Given the description of an element on the screen output the (x, y) to click on. 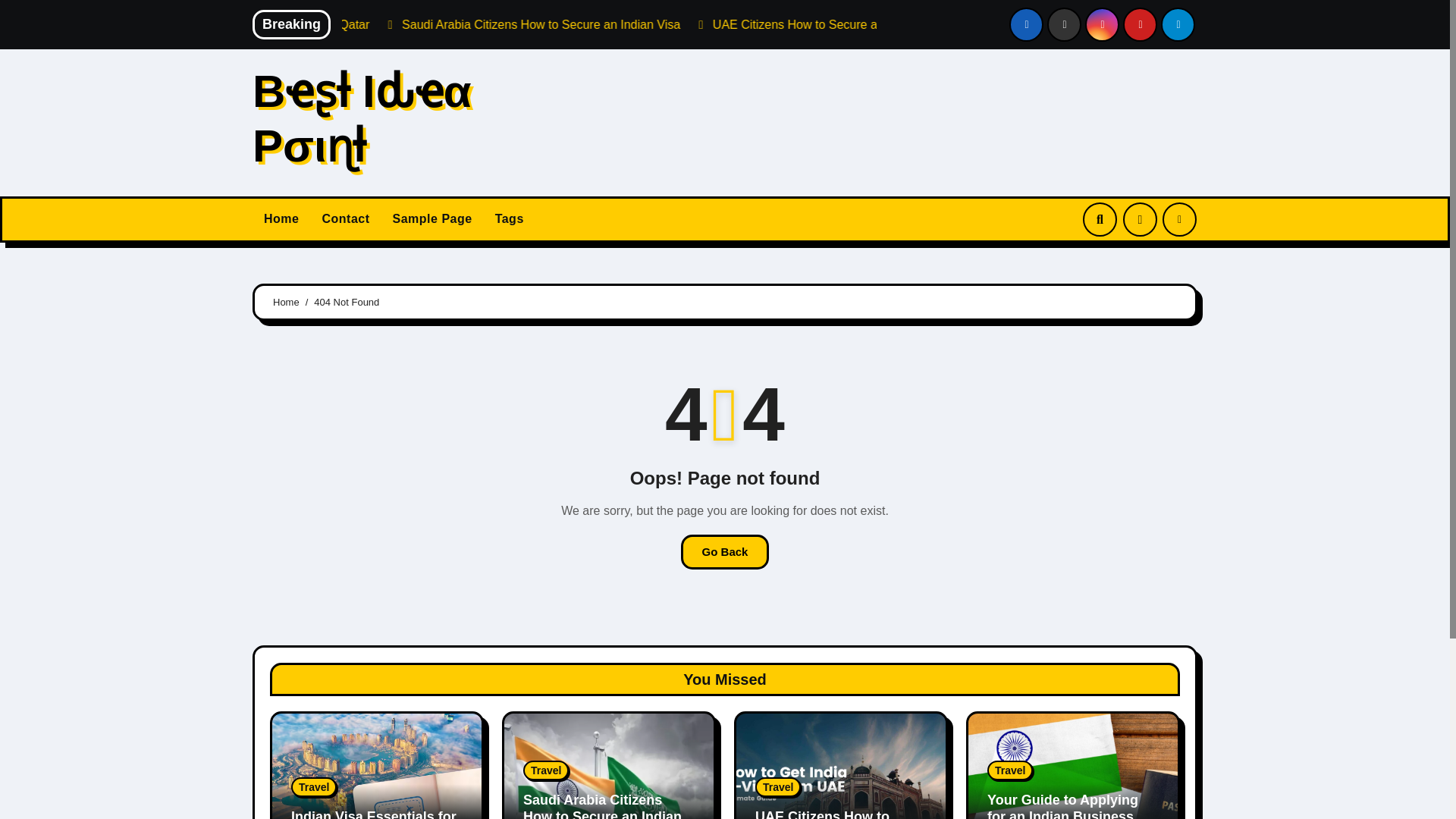
Contact (345, 219)
UAE Citizens How to Secure an Indian Visa (974, 24)
Home (286, 301)
Travel (1009, 770)
Saudi Arabia Citizens How to Secure an Indian Visa (601, 805)
Travel (313, 786)
Home (280, 219)
Indian Visa Essentials for Travelers from Qatar (374, 814)
